Given the description of an element on the screen output the (x, y) to click on. 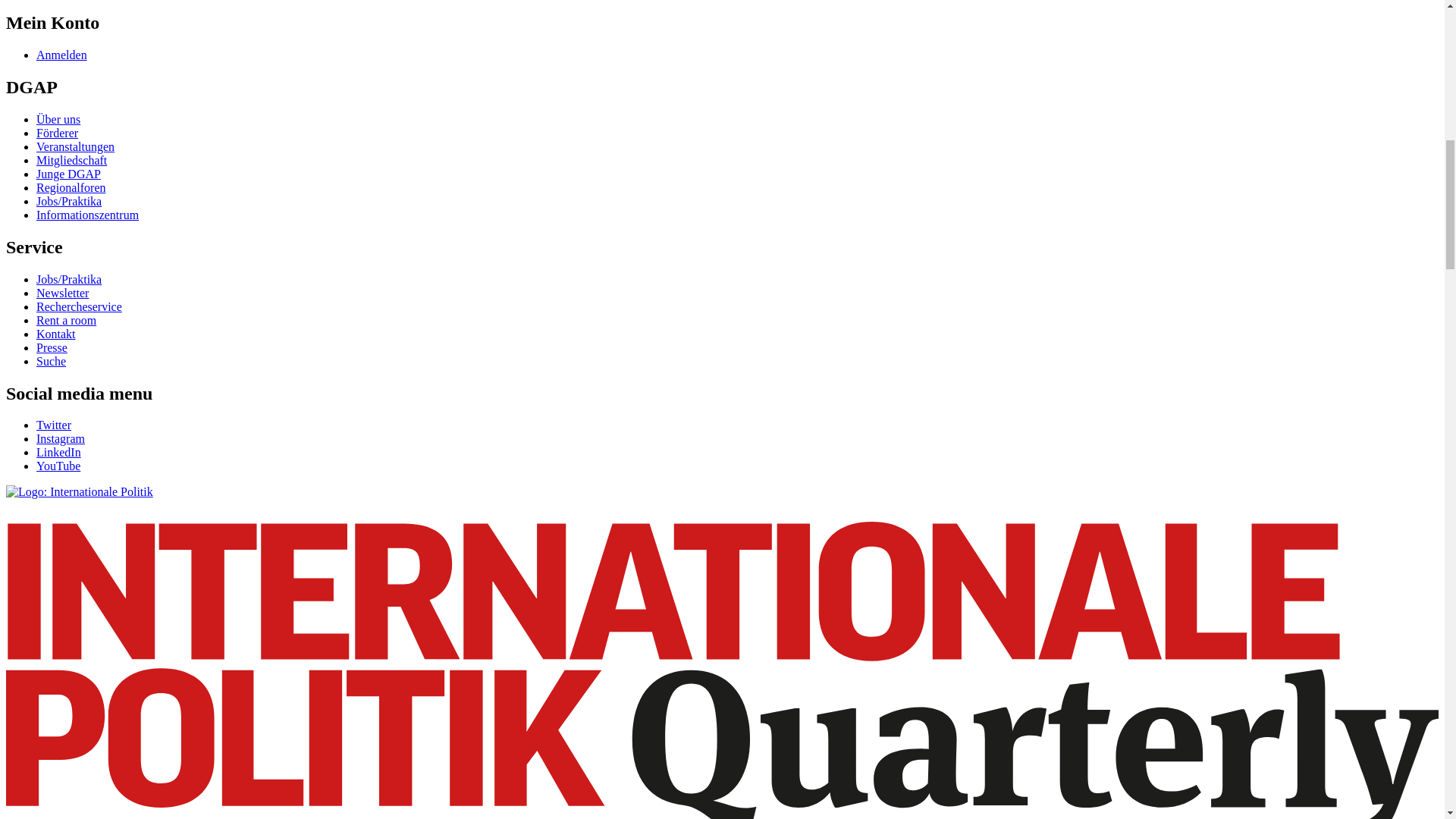
Rent a room (66, 319)
Newsletter (62, 292)
Junge DGAP (68, 173)
LinkedIn (58, 451)
Kontakt (55, 333)
Instagram (60, 438)
Suche (50, 360)
Veranstaltungen (75, 146)
Presse (51, 347)
Informationszentrum (87, 214)
Twitter (53, 424)
Regionalforen (71, 187)
Mitgliedschaft (71, 160)
Anmelden (61, 54)
LinkedIn (58, 451)
